Given the description of an element on the screen output the (x, y) to click on. 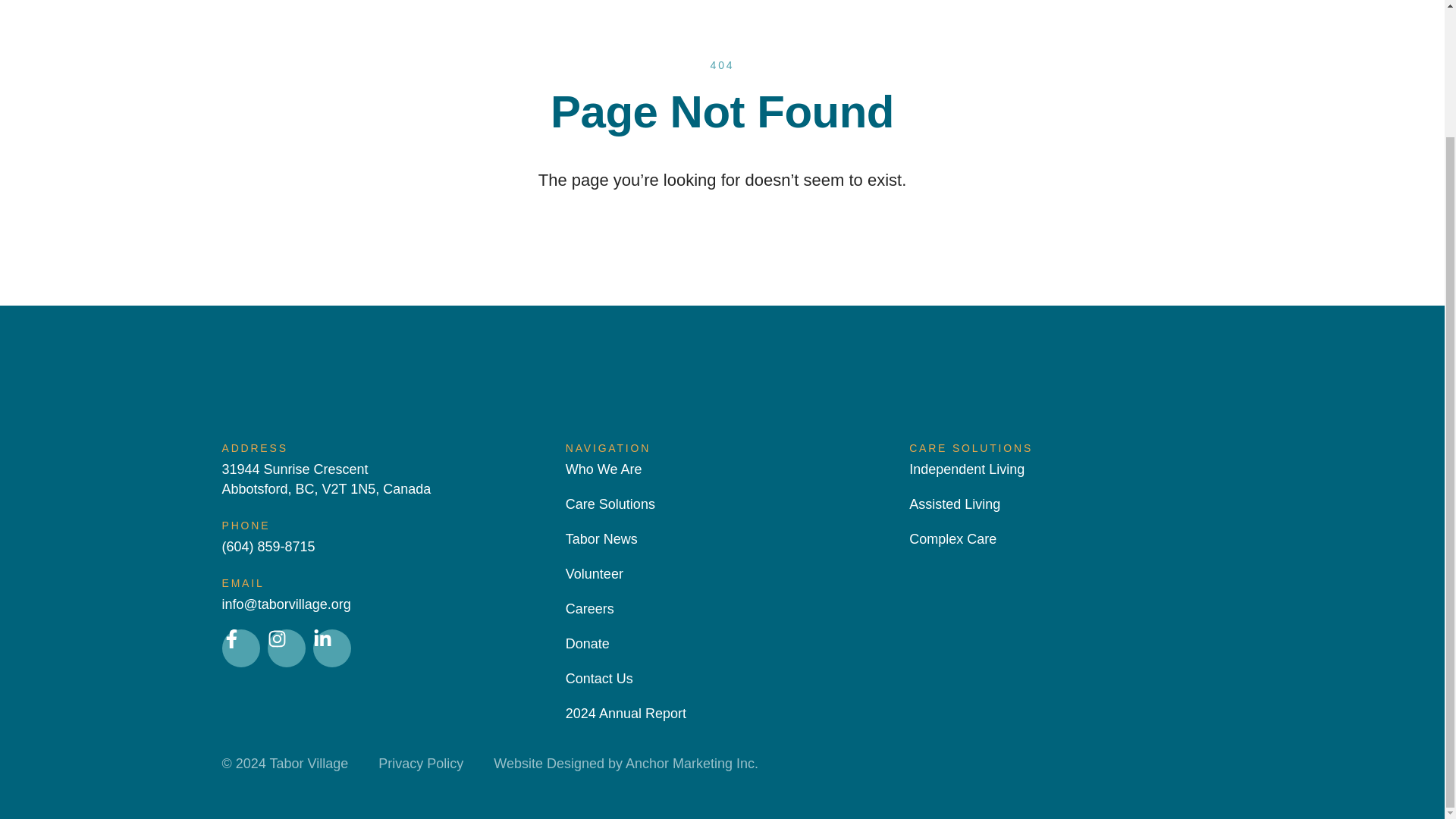
Who We Are (604, 469)
Donate (588, 643)
Tabor News (601, 538)
Careers (590, 608)
Volunteer (594, 573)
Care Solutions (610, 504)
